Given the description of an element on the screen output the (x, y) to click on. 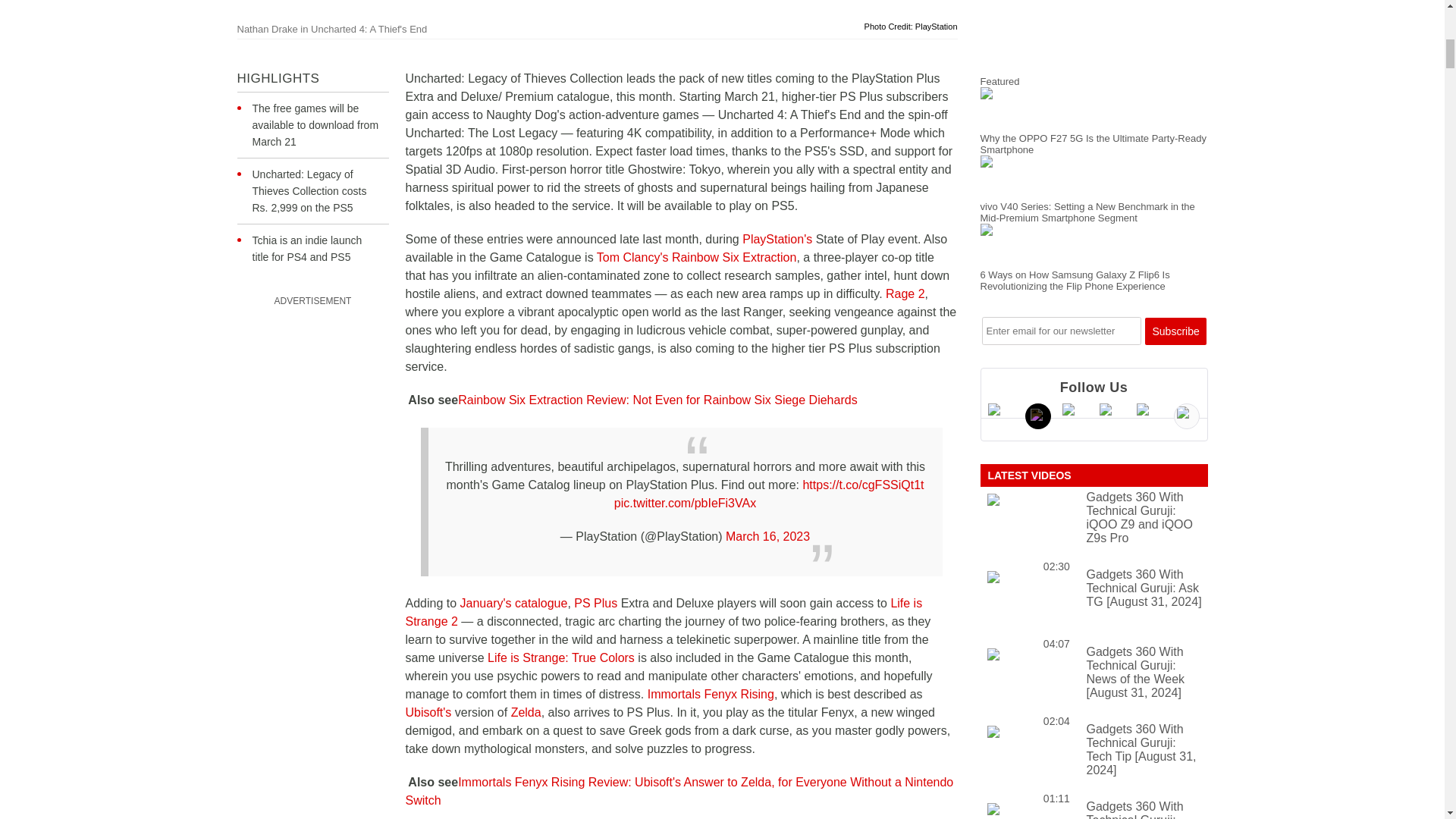
Life is Strange: True Colors (560, 657)
Life is Strange 2 (662, 612)
PlayStation's (777, 238)
Ubisoft's (427, 712)
Rage 2 (904, 293)
March 16, 2023 (767, 535)
Tom Clancy's Rainbow Six Extraction (696, 256)
January's catalogue (513, 603)
